Given the description of an element on the screen output the (x, y) to click on. 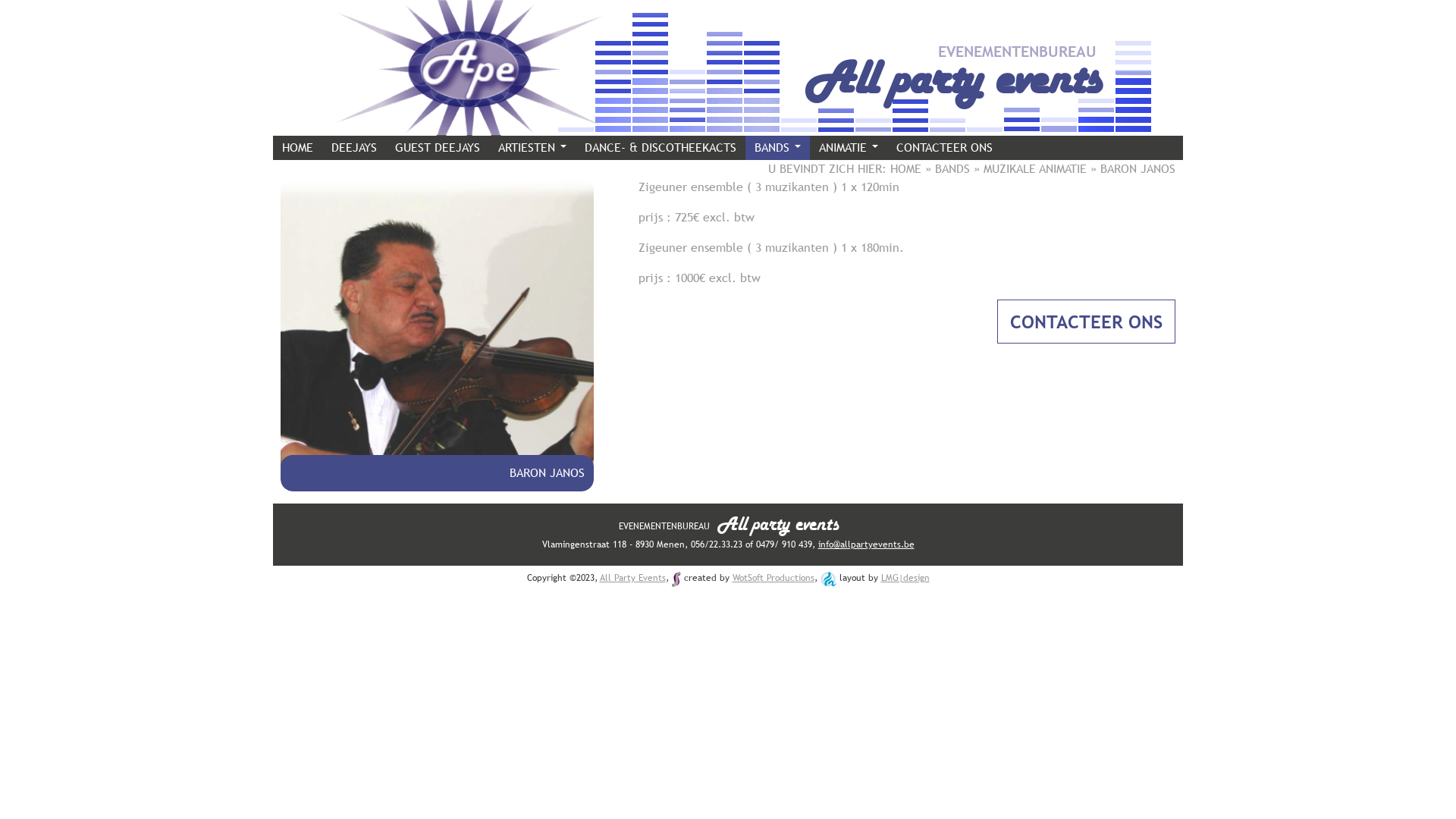
LMG|design Element type: text (905, 577)
CONTACTEER ONS Element type: text (944, 147)
All Party Events Element type: text (632, 577)
Home Element type: hover (469, 126)
ZANGERS Element type: text (532, 172)
MUZIKALE ANIMATIE Element type: text (1034, 168)
GROEPEN EN BANDS Element type: text (804, 172)
ANIMATIE Element type: text (848, 147)
ARTIESTEN Element type: text (532, 147)
WotSoft Productions Element type: text (773, 577)
CONTACTEER ONS Element type: text (1086, 321)
VOLWASSENEN EN SENIORENANIMATIE Element type: text (915, 172)
BANDS Element type: text (777, 147)
HOME Element type: text (905, 168)
info@allpartyevents.be Element type: text (865, 544)
DANCE- & DISCOTHEEKACTS Element type: text (660, 147)
BANDS Element type: text (952, 168)
baron janos Element type: hover (436, 334)
HOME Element type: text (297, 147)
DEEJAYS Element type: text (353, 147)
GUEST DEEJAYS Element type: text (437, 147)
